Given the description of an element on the screen output the (x, y) to click on. 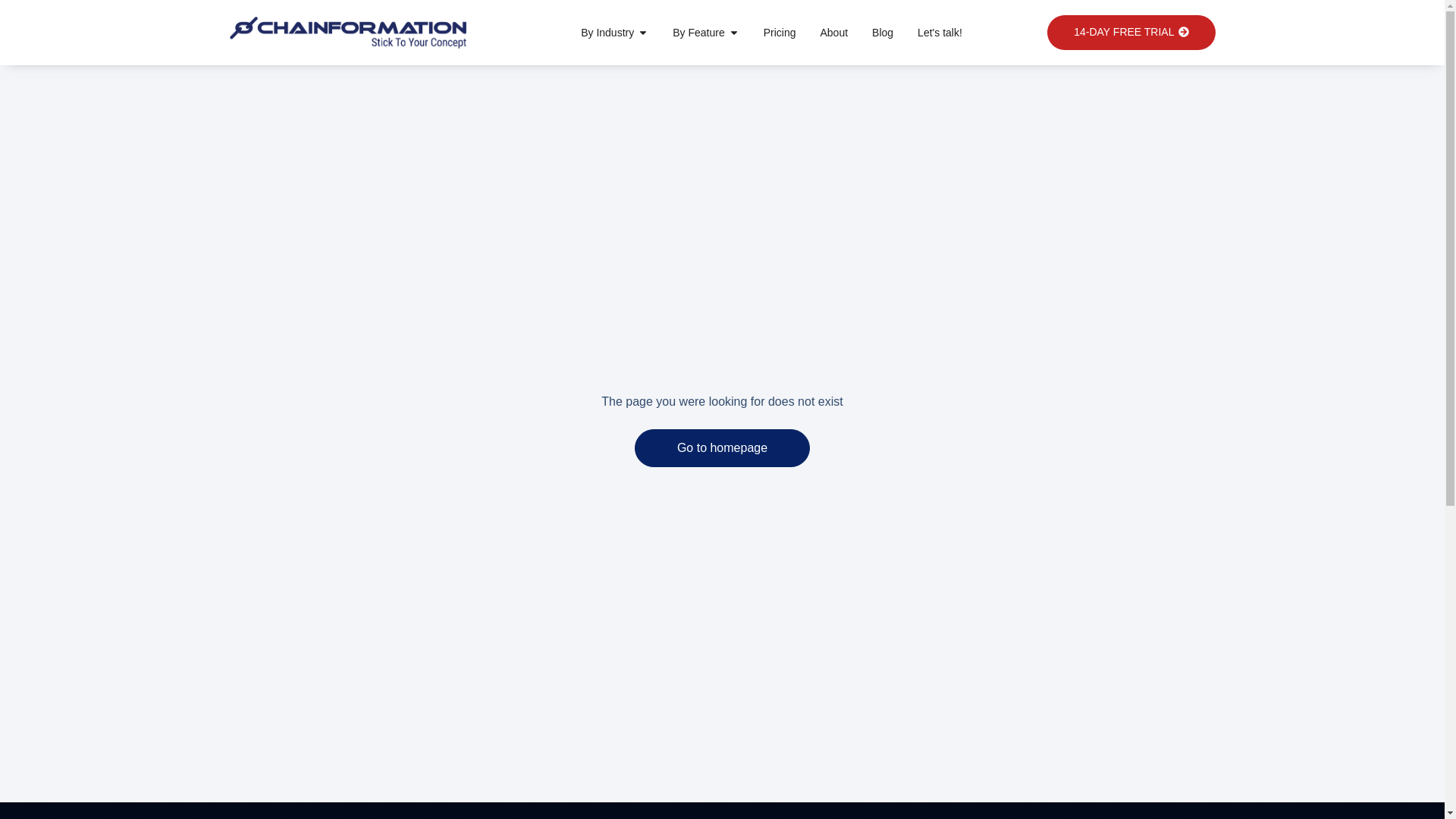
Let's talk! (939, 32)
14-DAY FREE TRIAL (1130, 32)
Pricing (779, 32)
About (833, 32)
Blog (882, 32)
